Given the description of an element on the screen output the (x, y) to click on. 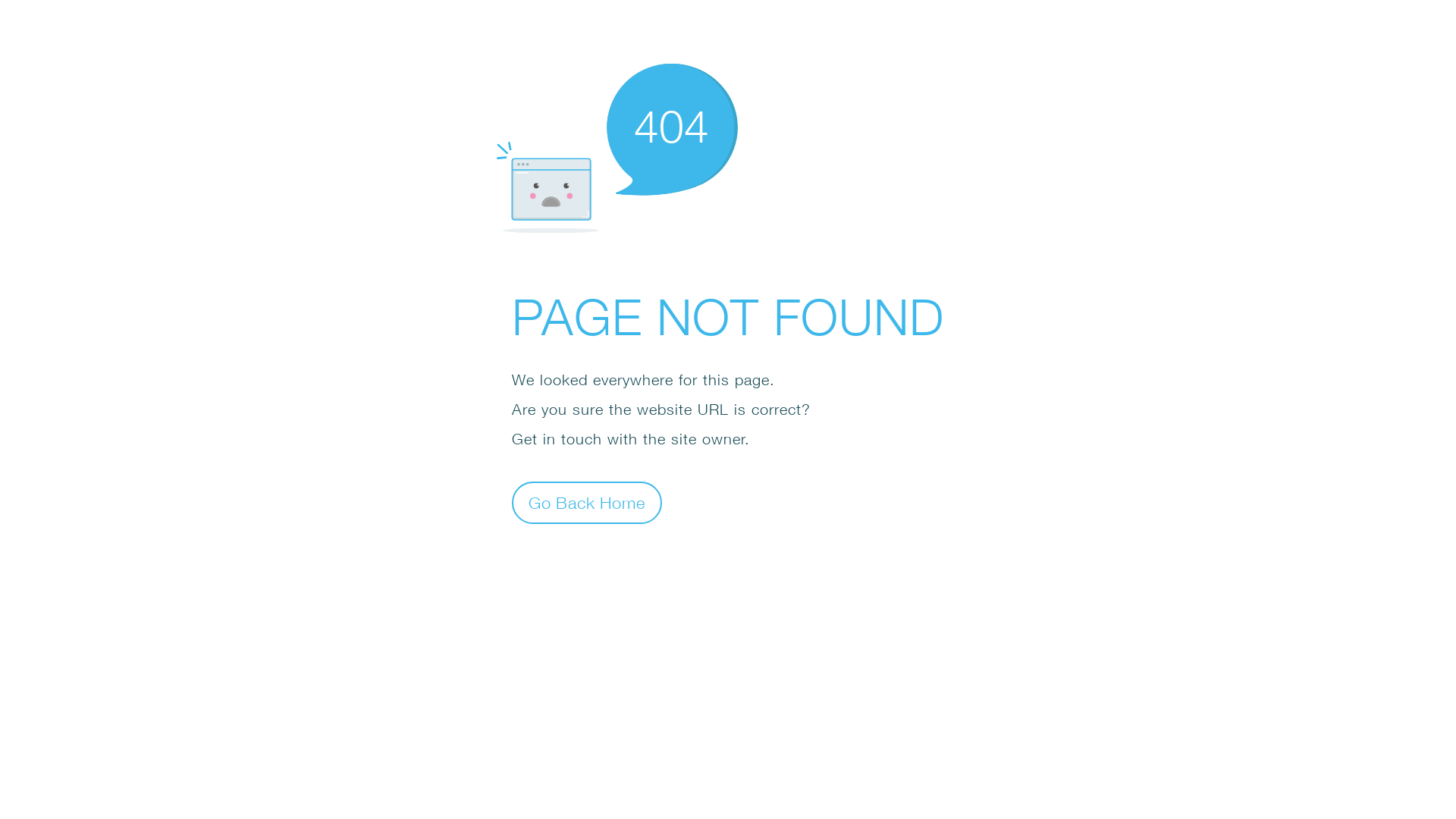
Go Back Home Element type: text (586, 502)
